Given the description of an element on the screen output the (x, y) to click on. 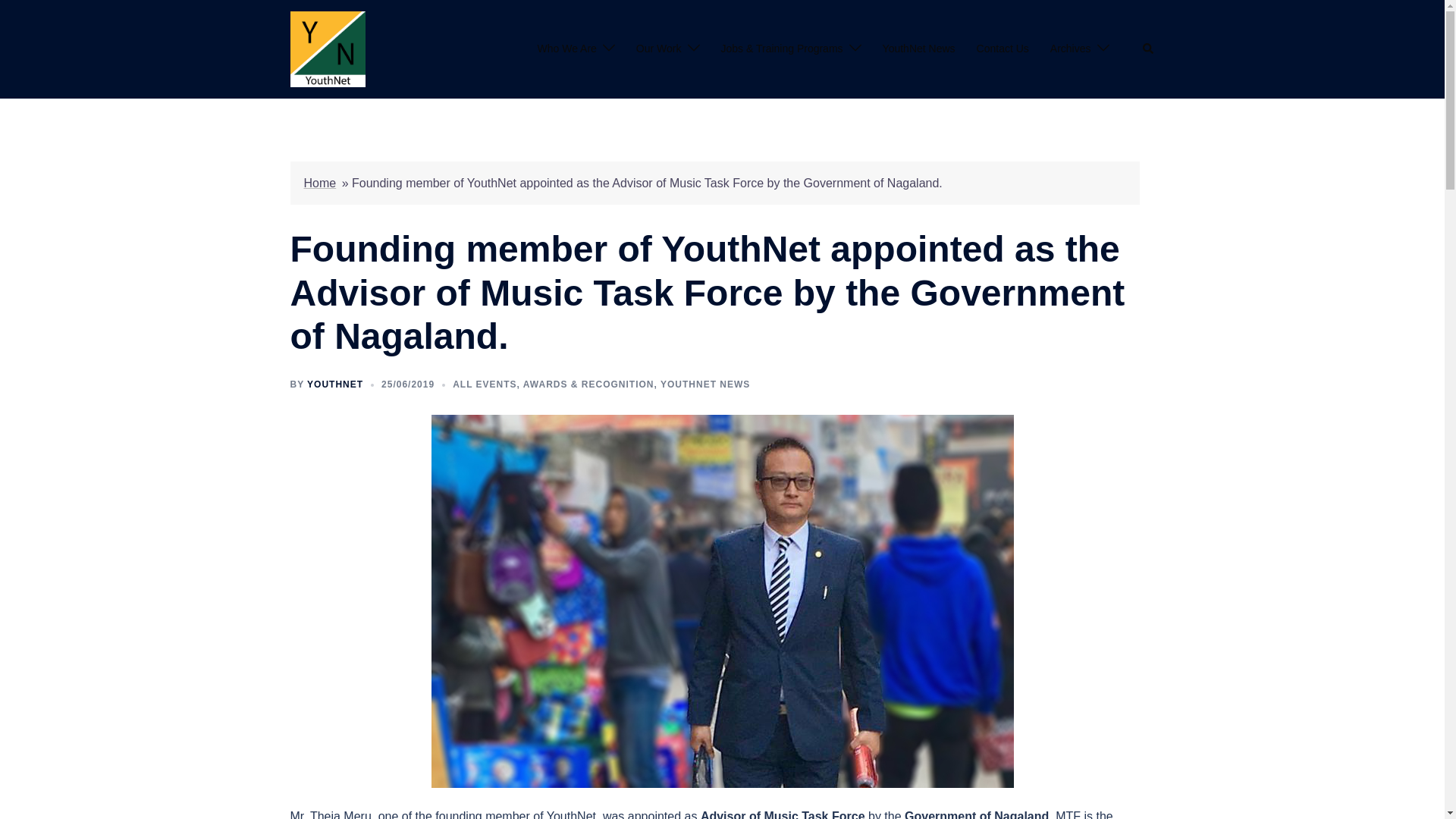
YouthNet (327, 47)
Who We Are (566, 49)
Our Work (658, 49)
